Given the description of an element on the screen output the (x, y) to click on. 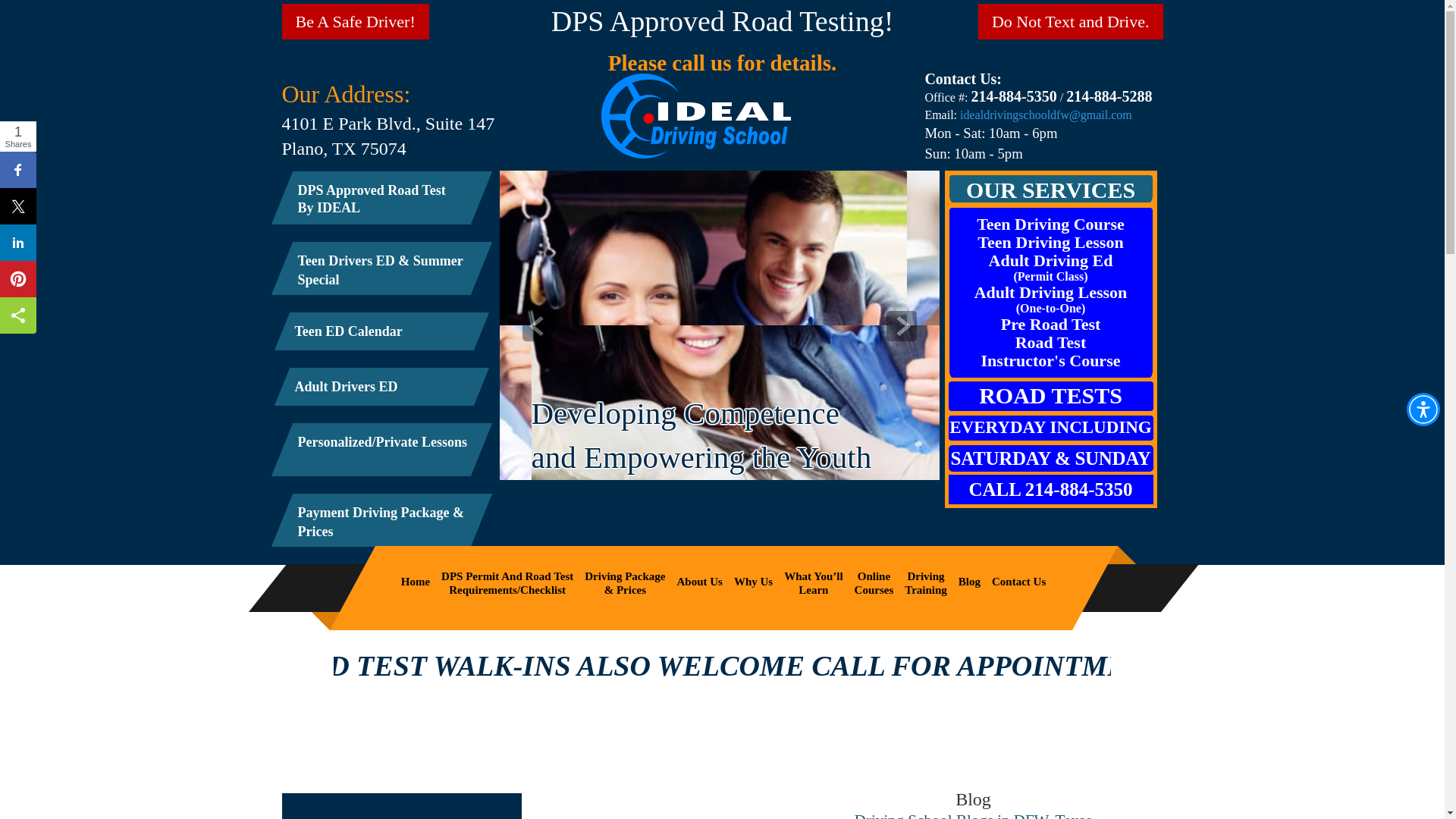
OUR SERVICES (1050, 189)
Contact Us (1018, 581)
214-884-5288 (1108, 95)
Blog (386, 185)
214-884-5350 (969, 581)
next (925, 581)
About Us (1014, 95)
Teen ED Calendar (901, 326)
Accessibility Menu (699, 581)
CALL 214-884-5350 (383, 326)
prev (1422, 409)
Home (1050, 489)
